Given the description of an element on the screen output the (x, y) to click on. 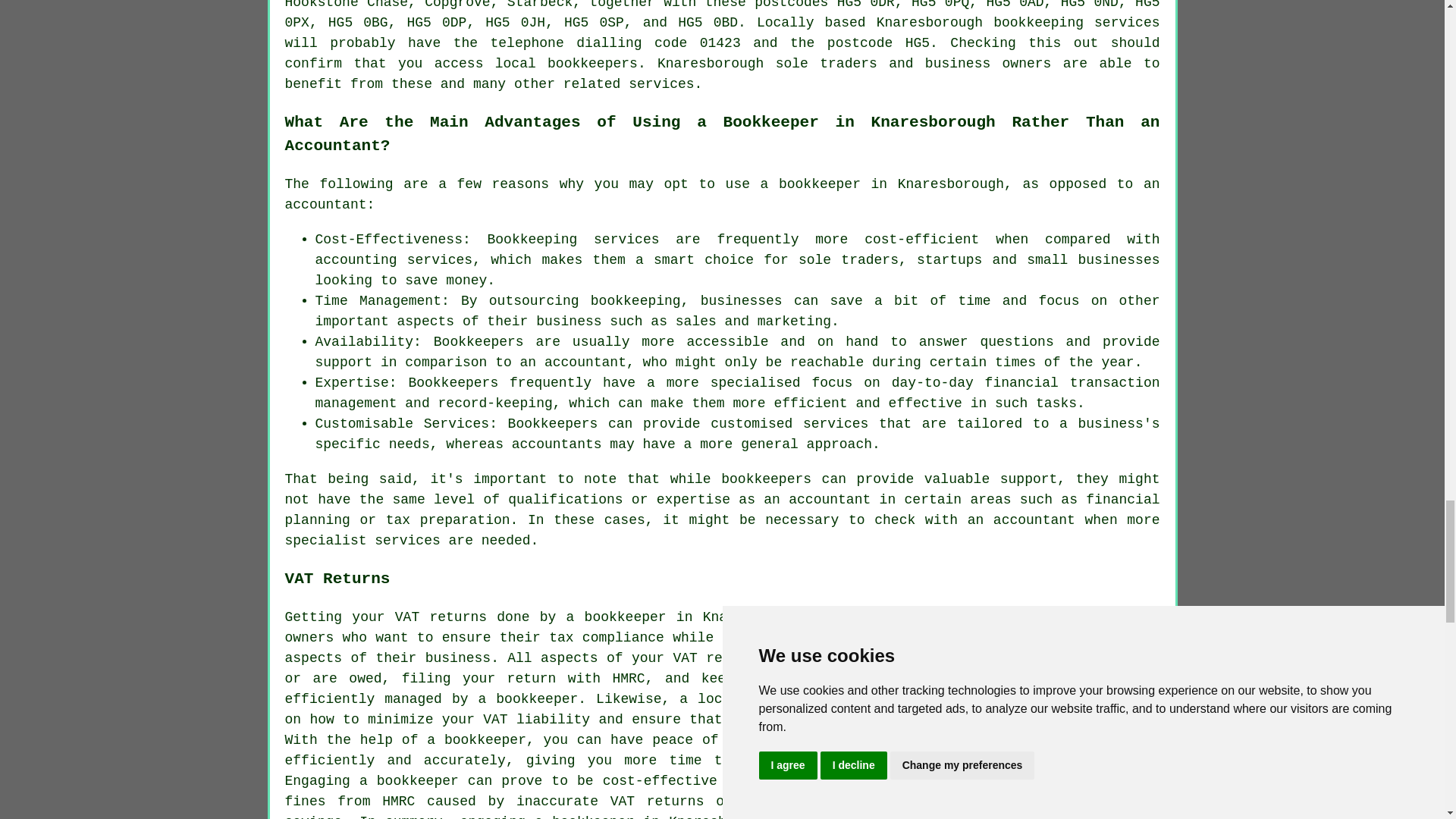
bookkeepers (592, 63)
a bookkeeper (527, 698)
accountant (829, 499)
bookkeepers (765, 478)
bookkeeping services (1075, 22)
